Given the description of an element on the screen output the (x, y) to click on. 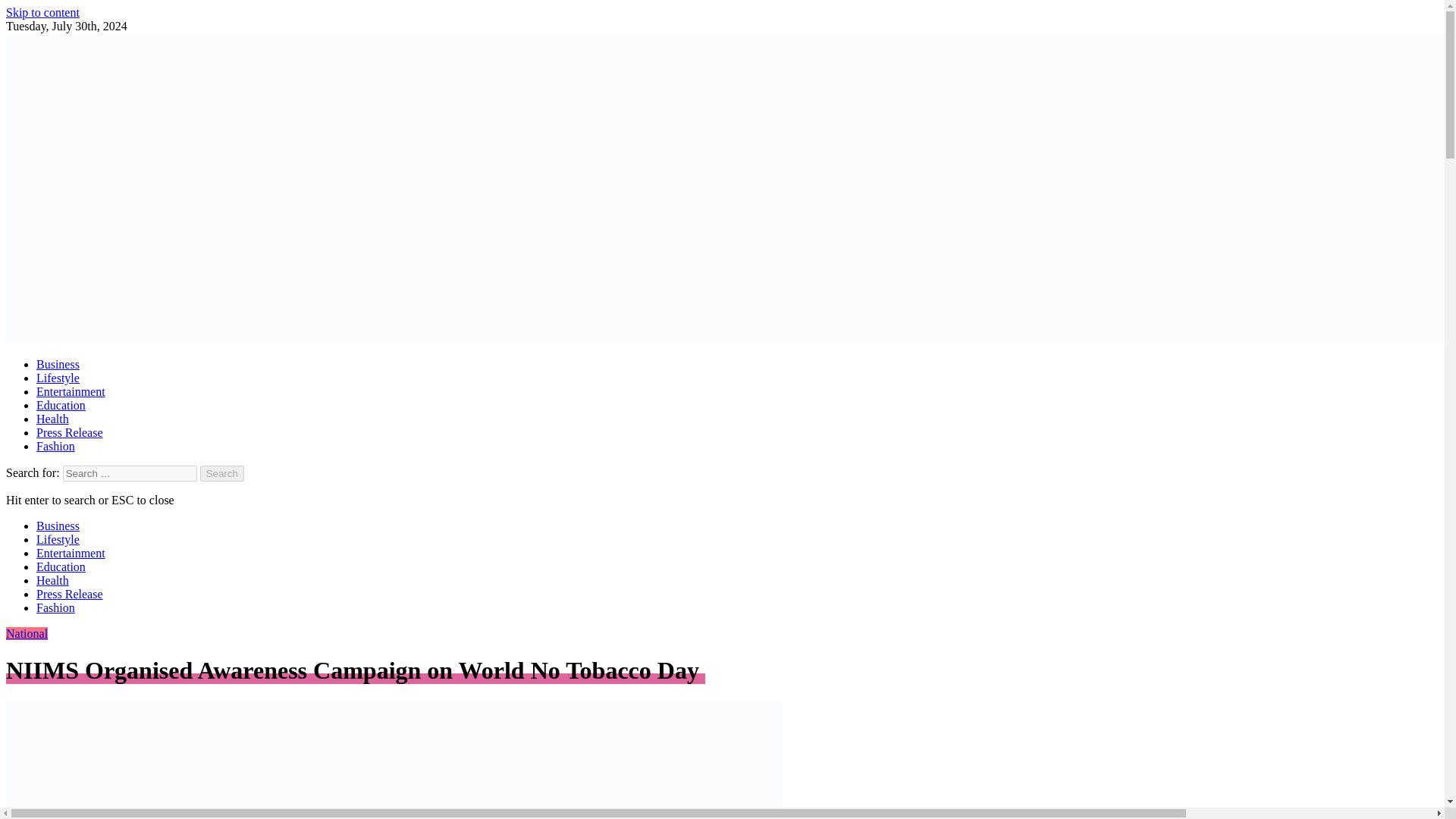
Fashion (55, 607)
Lifestyle (58, 377)
Entertainment (70, 553)
Entertainment (70, 391)
Health (52, 580)
Education (60, 404)
Press Release (69, 594)
Skip to content (42, 11)
Business (58, 525)
Fashion (55, 445)
National (26, 633)
Health (52, 418)
View all posts in National (26, 633)
Business (58, 364)
Lifestyle (58, 539)
